Given the description of an element on the screen output the (x, y) to click on. 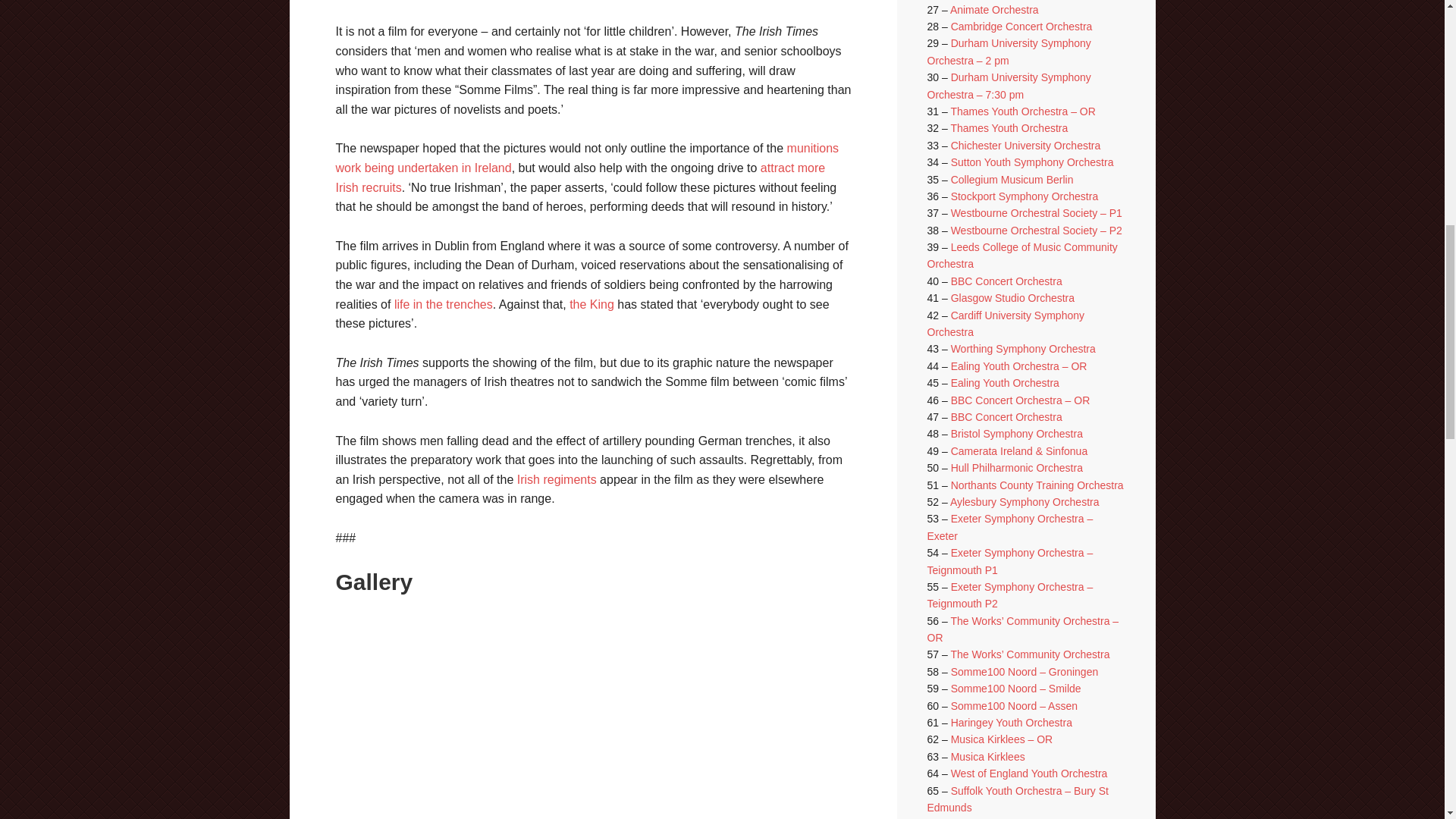
Somme Dublin 19.11.18 (439, 790)
somme dublin flyer (599, 790)
the King (591, 304)
munitions work being undertaken in Ireland (586, 157)
Cx9Gnw6WEAApxd2 (452, 682)
attract more Irish recruits (579, 177)
life in the trenches (443, 304)
Dublin-Somme 19.11.16 (711, 682)
Irish regiments (556, 479)
